Given the description of an element on the screen output the (x, y) to click on. 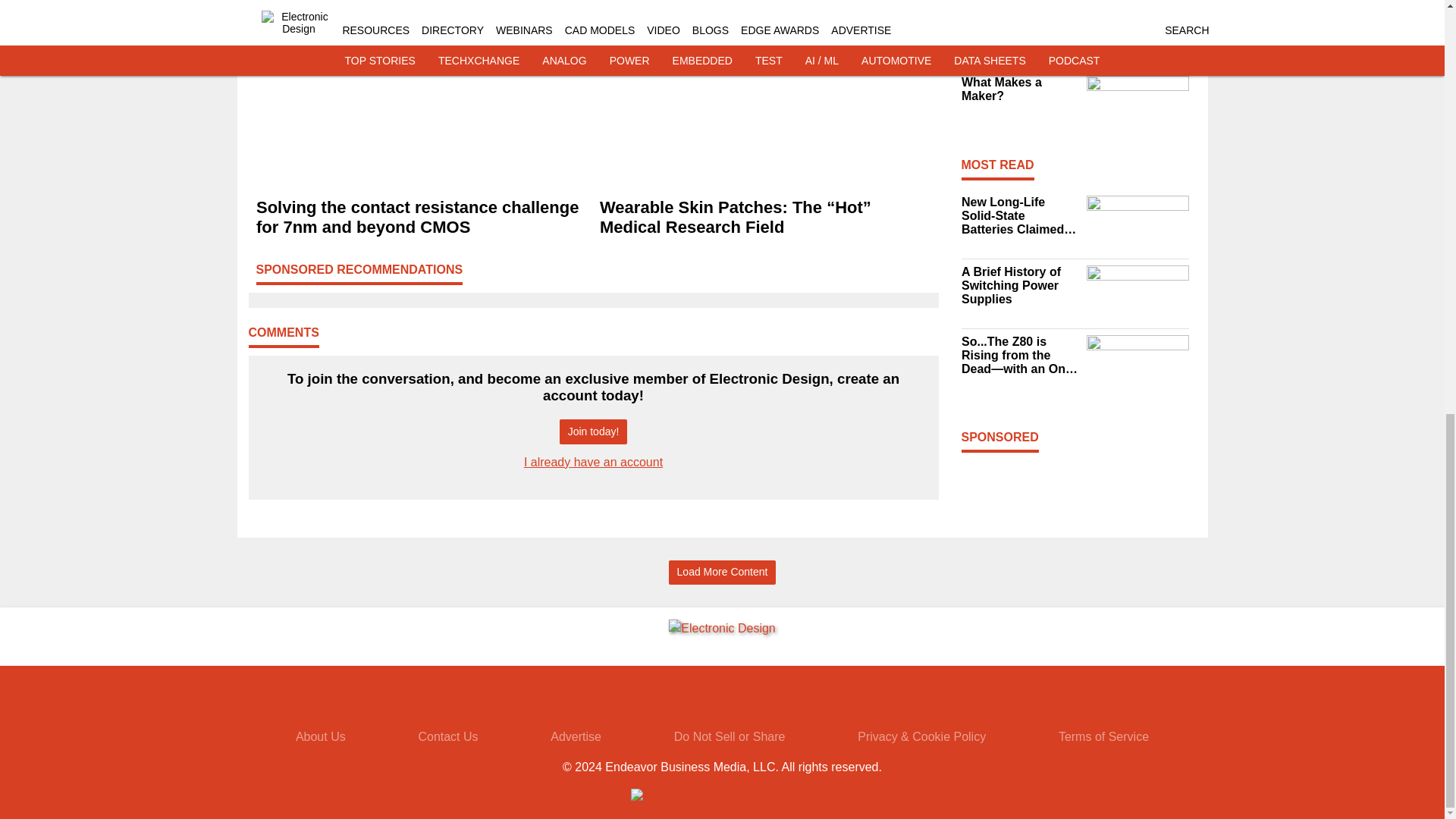
Join today! (593, 431)
I already have an account (593, 461)
